Given the description of an element on the screen output the (x, y) to click on. 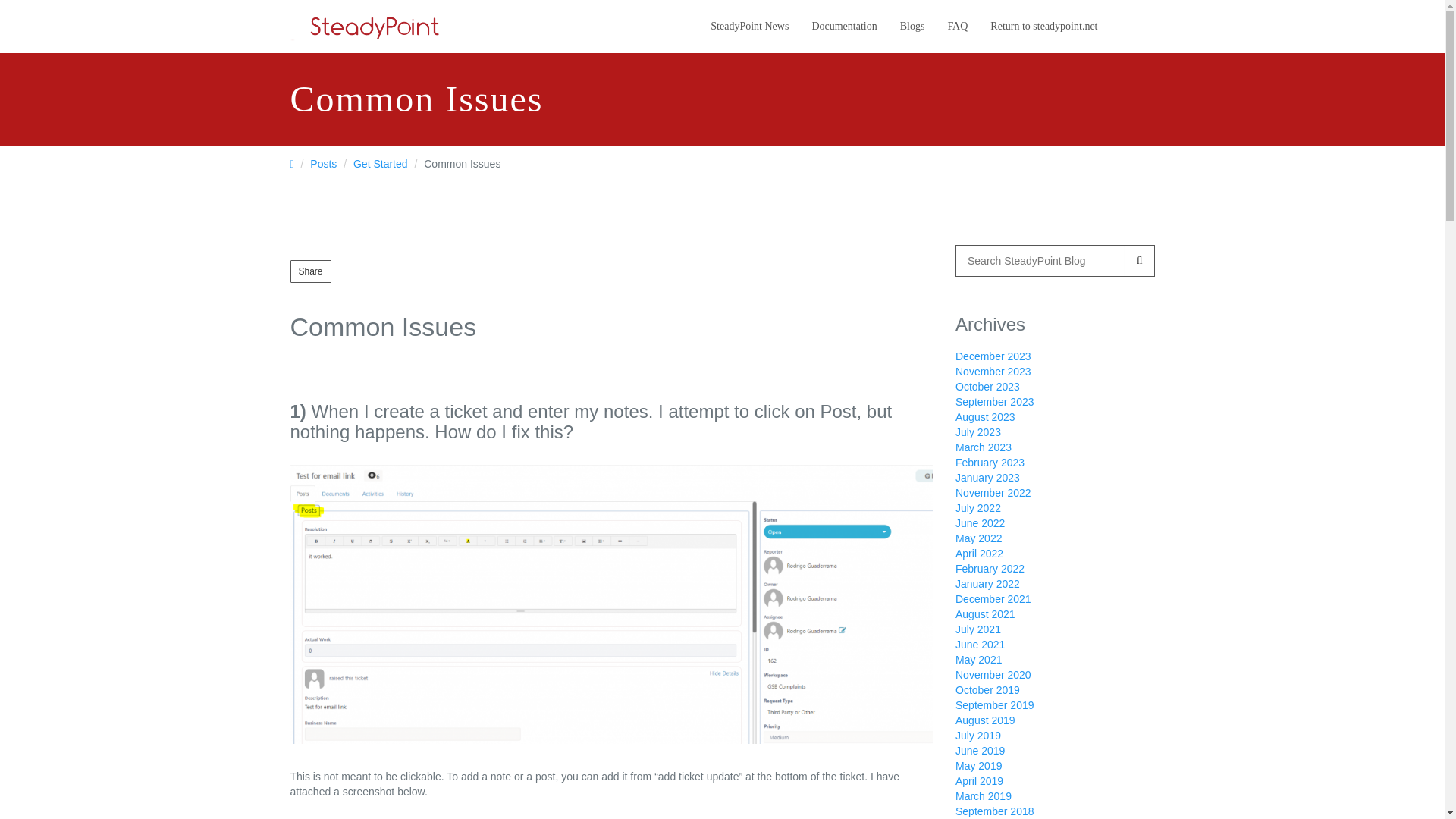
Documentation (843, 26)
November 2023 (992, 371)
December 2023 (992, 356)
Return to steadypoint.net (1043, 26)
Get Started (380, 163)
Share (309, 271)
Documentation (843, 26)
SteadyPoint News (748, 26)
SteadyPoint News (748, 26)
Blogs (912, 26)
